Given the description of an element on the screen output the (x, y) to click on. 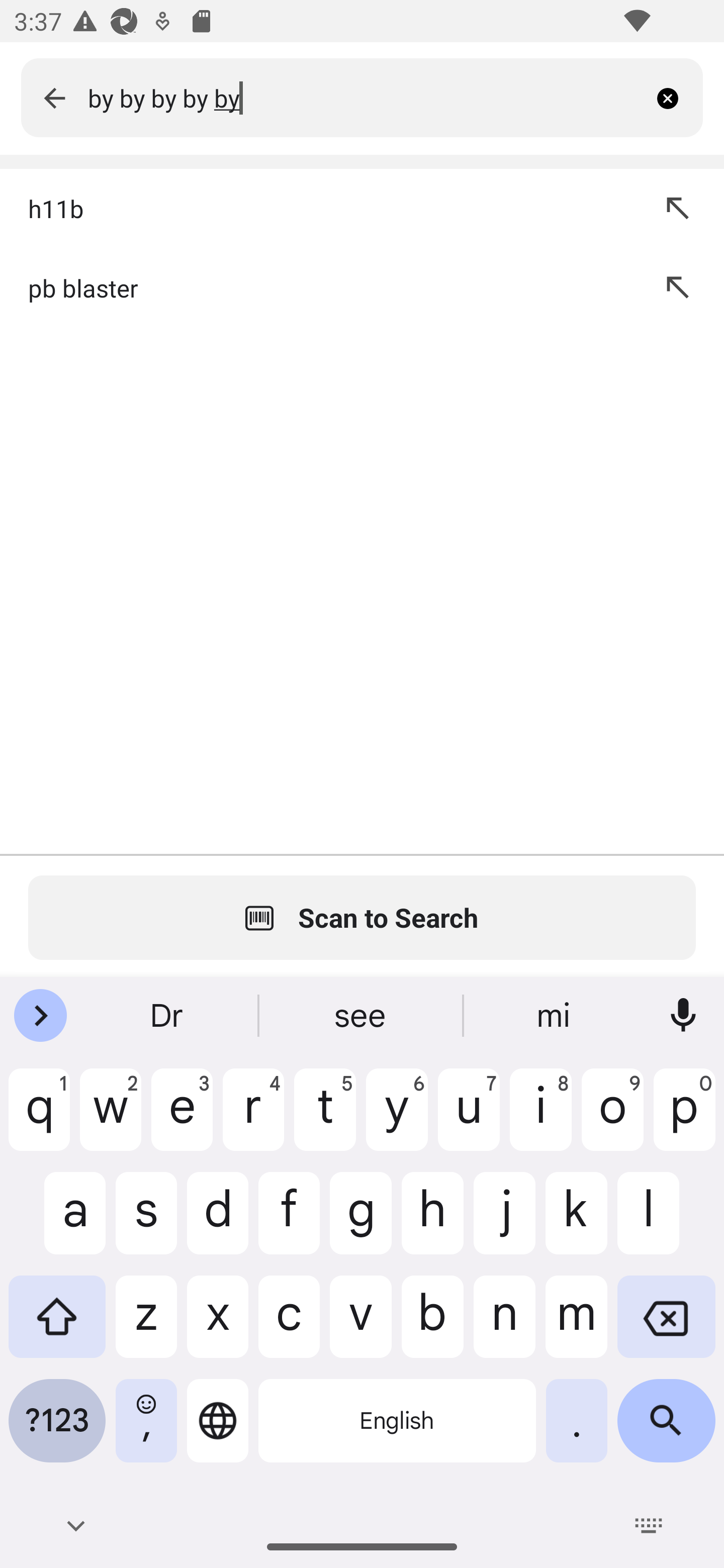
 (54, 97)
by by by by by Text input field (367, 97)
Clear search bar text  (674, 97)
h11b (322, 208)
pb blaster (322, 287)
